Given the description of an element on the screen output the (x, y) to click on. 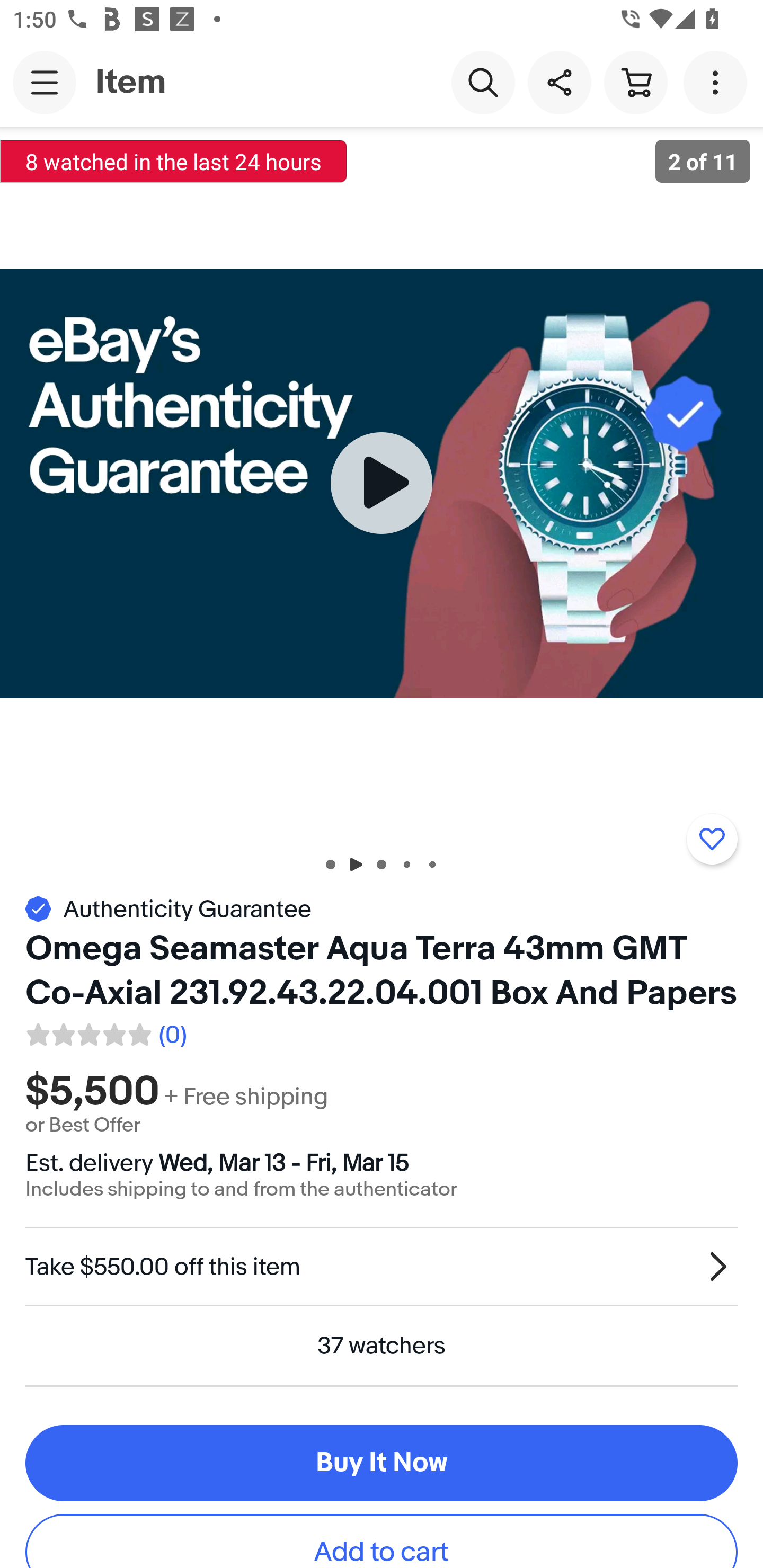
Main navigation, open (44, 82)
Search (482, 81)
Share this item (559, 81)
Cart button shopping cart (635, 81)
More options (718, 81)
Item image 2 of 11, plays video (381, 482)
8 watched in the last 24 hours (173, 161)
Add to watchlist (711, 838)
0 reviews. Average rating 0.0 out of five 0.0 (0) (105, 1031)
Buy It Now (381, 1462)
Add to cart (381, 1541)
